Given the description of an element on the screen output the (x, y) to click on. 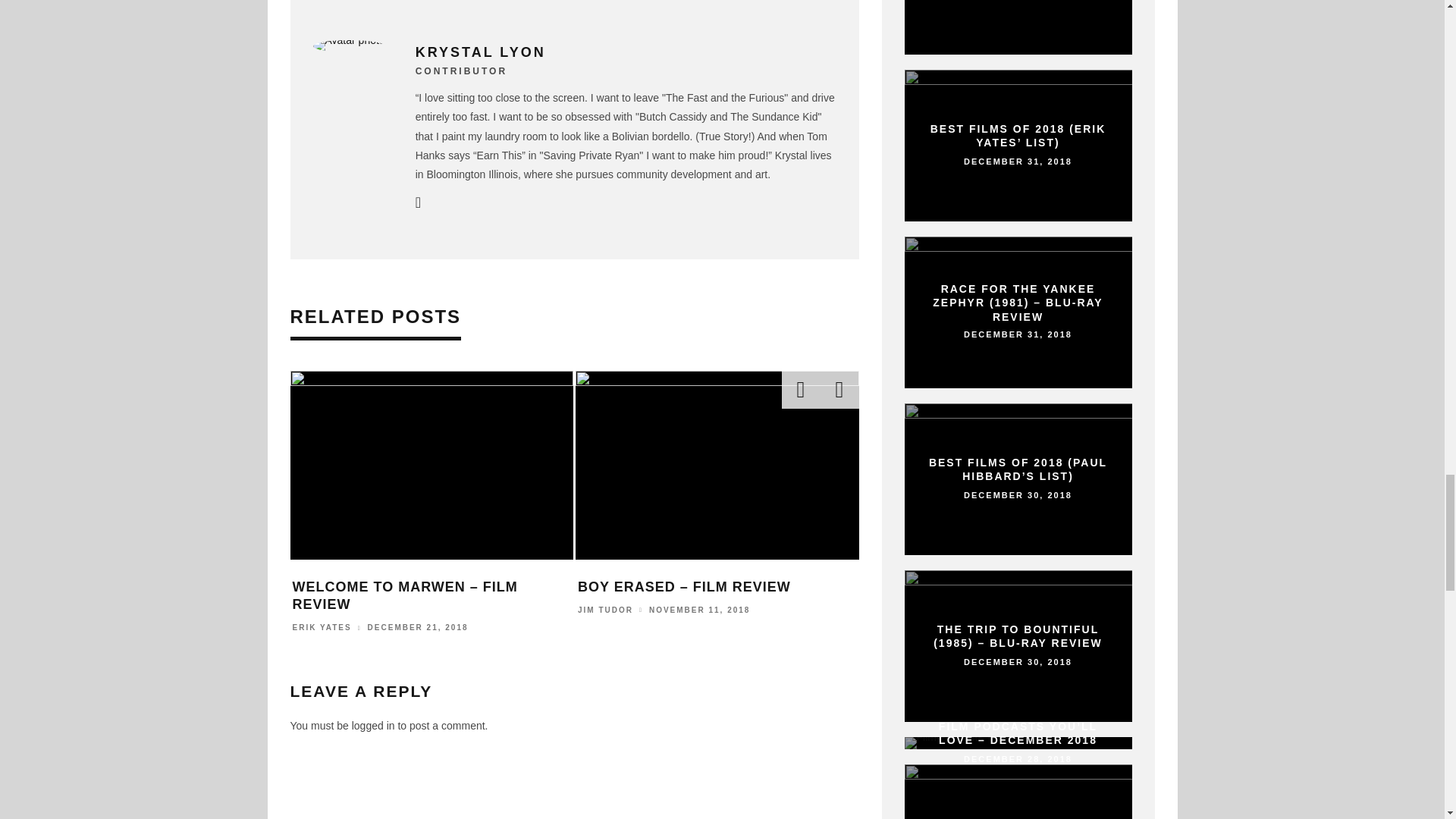
Posts by Jim Tudor (605, 610)
Posts by Erik Yates (322, 628)
